Given the description of an element on the screen output the (x, y) to click on. 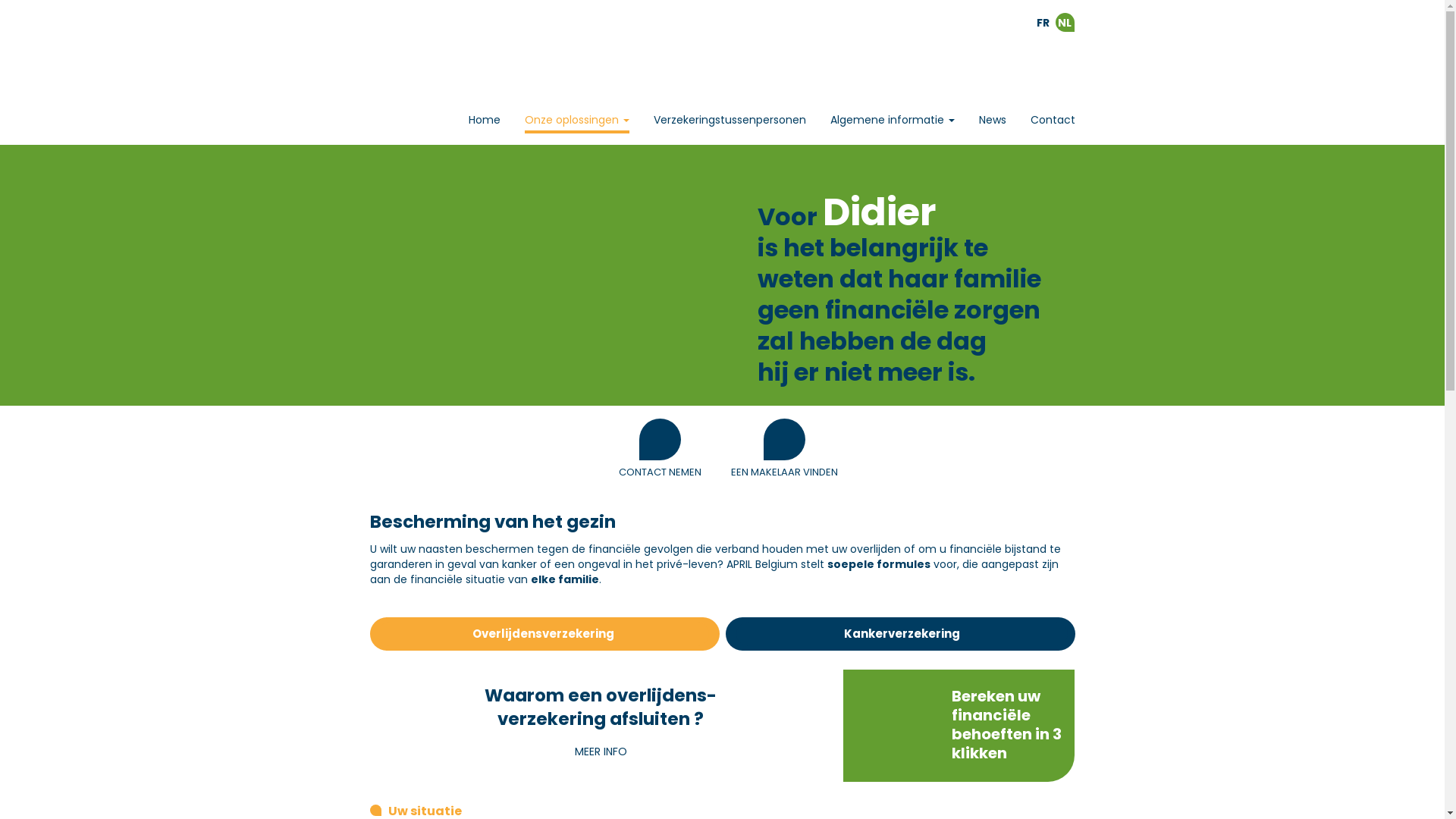
Contact Element type: text (1051, 119)
MEER INFO Element type: text (600, 751)
Waarom een overlijdens-
verzekering afsluiten ? Element type: text (601, 721)
FR Element type: text (1041, 21)
Kankerverzekering Element type: text (899, 633)
Overlijdensverzekering Element type: text (544, 633)
News Element type: text (991, 119)
NL Element type: text (1064, 21)
Home Element type: text (484, 119)
Algemene informatie Element type: text (891, 119)
Onze oplossingen Element type: text (576, 121)
Verzekeringstussenpersonen Element type: text (729, 119)
